Given the description of an element on the screen output the (x, y) to click on. 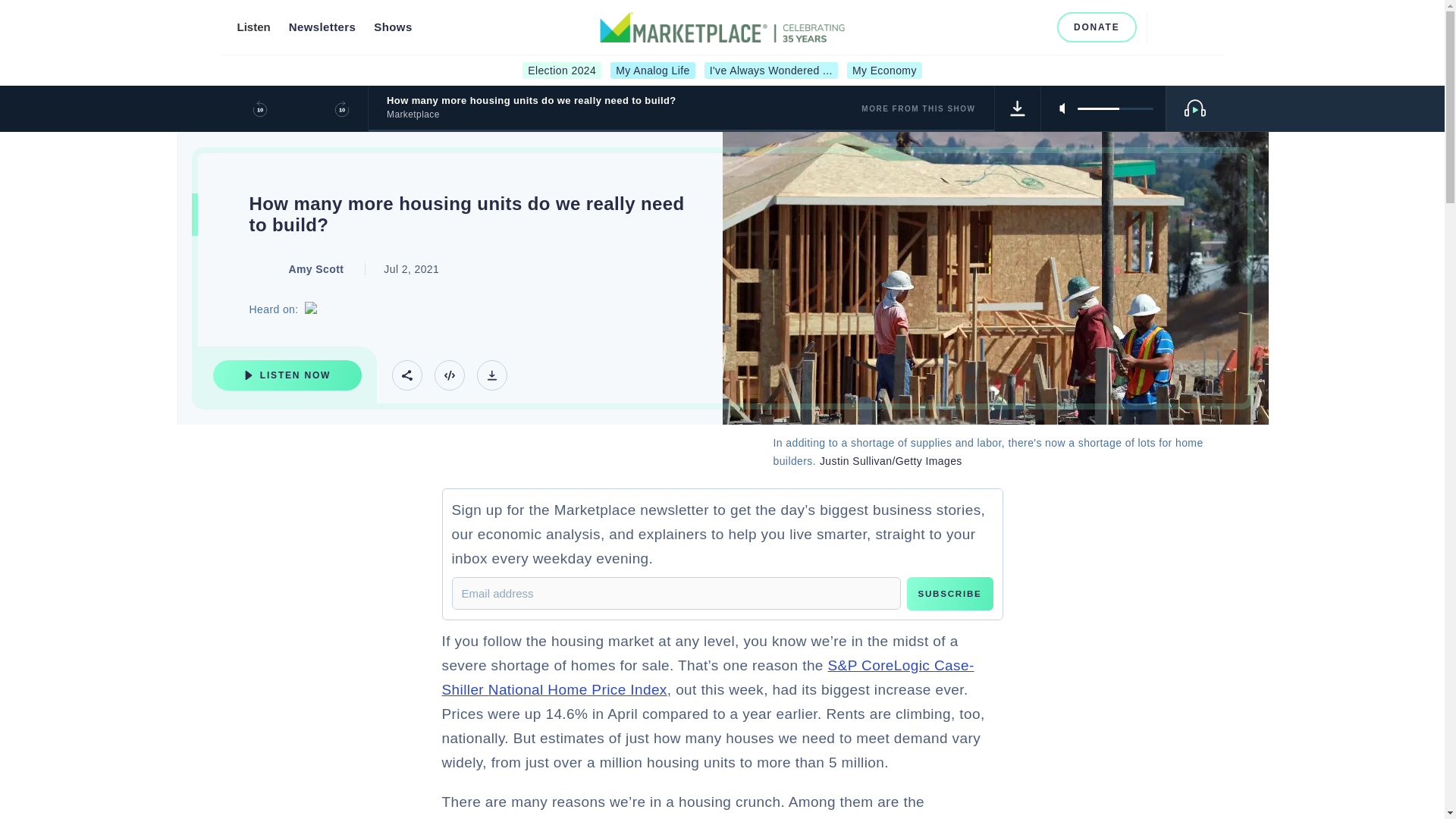
Facebook (962, 27)
Skip 10 Seconds (341, 108)
Playback 10 Seconds (259, 108)
Search (1164, 27)
TikTok (1035, 27)
Menu (1198, 27)
Shows (393, 26)
Listen Now (286, 374)
Download Track (491, 374)
DONATE (1097, 27)
Download Track (1017, 108)
Listen (252, 26)
Instagram (985, 27)
volume (1115, 108)
